Given the description of an element on the screen output the (x, y) to click on. 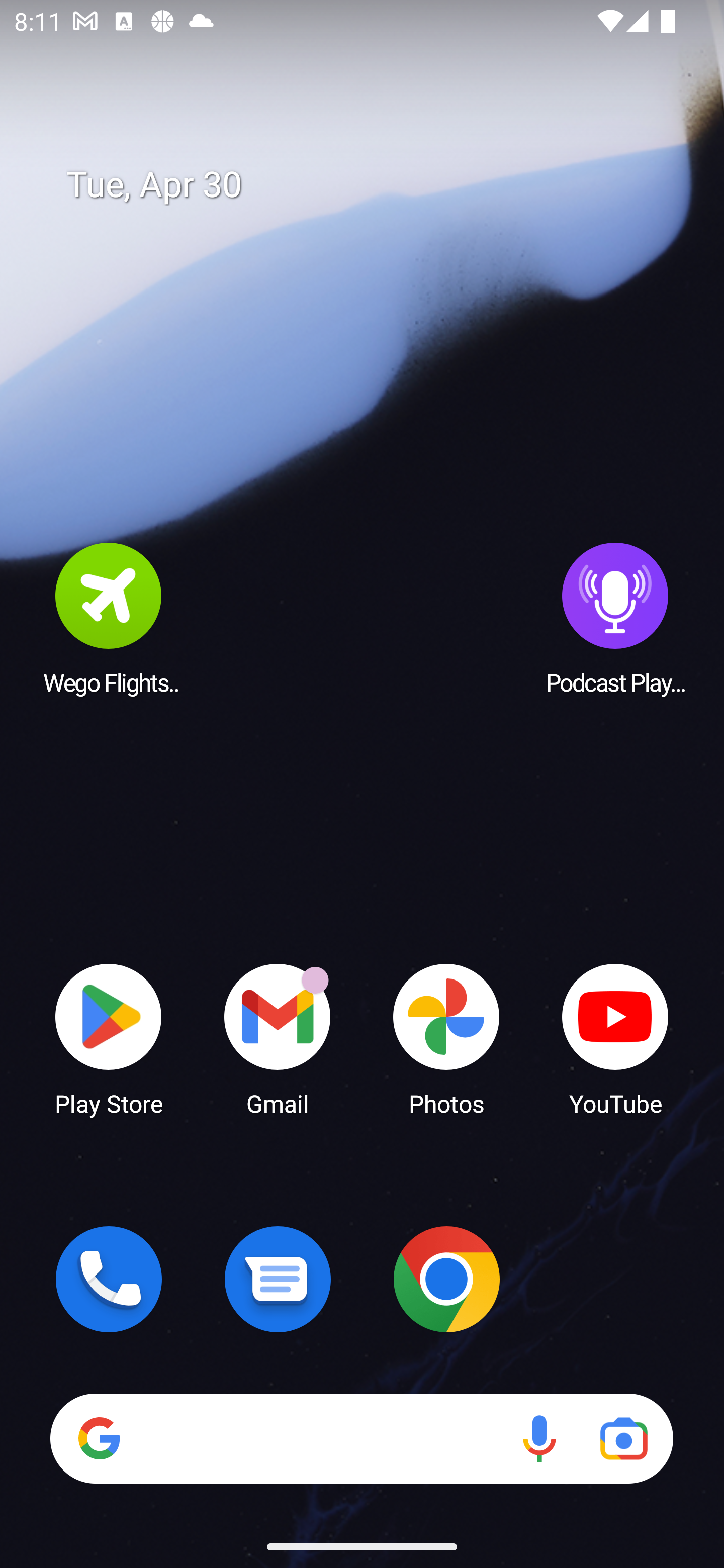
Tue, Apr 30 (375, 184)
Wego Flights & Hotels (108, 617)
Podcast Player (615, 617)
Play Store (108, 1038)
Gmail Gmail has 19 notifications (277, 1038)
Photos (445, 1038)
YouTube (615, 1038)
Phone (108, 1279)
Messages (277, 1279)
Chrome (446, 1279)
Voice search (539, 1438)
Google Lens (623, 1438)
